Given the description of an element on the screen output the (x, y) to click on. 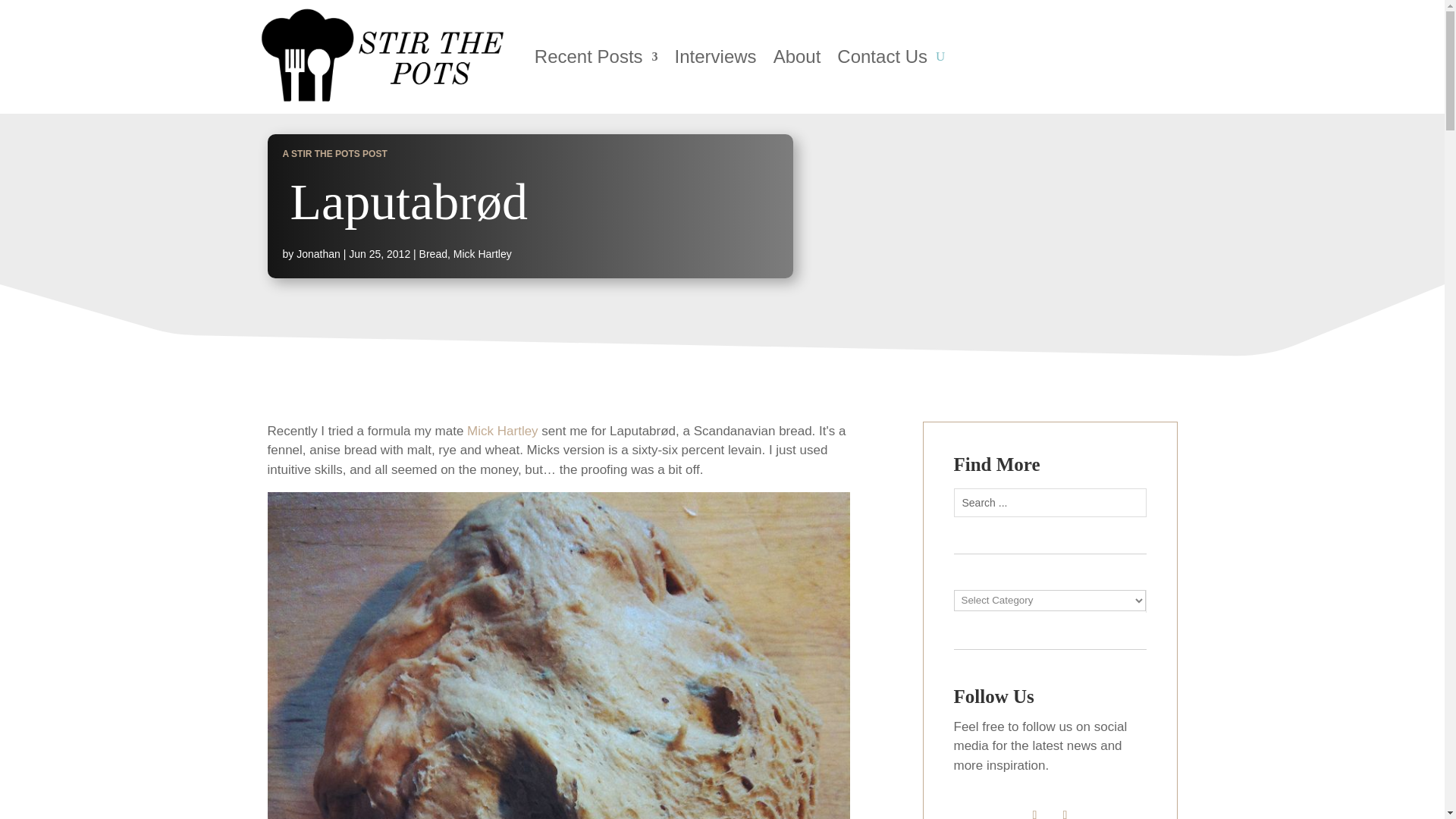
Follow on Facebook (1034, 811)
Bread (432, 254)
Follow on Instagram (1064, 811)
Contact Us (882, 56)
Mick Hartley (500, 431)
Posts by Jonathan (318, 254)
Mick Hartley (482, 254)
Search (28, 13)
Interviews (716, 56)
About (797, 56)
Recent Posts (596, 56)
Jonathan (318, 254)
